Given the description of an element on the screen output the (x, y) to click on. 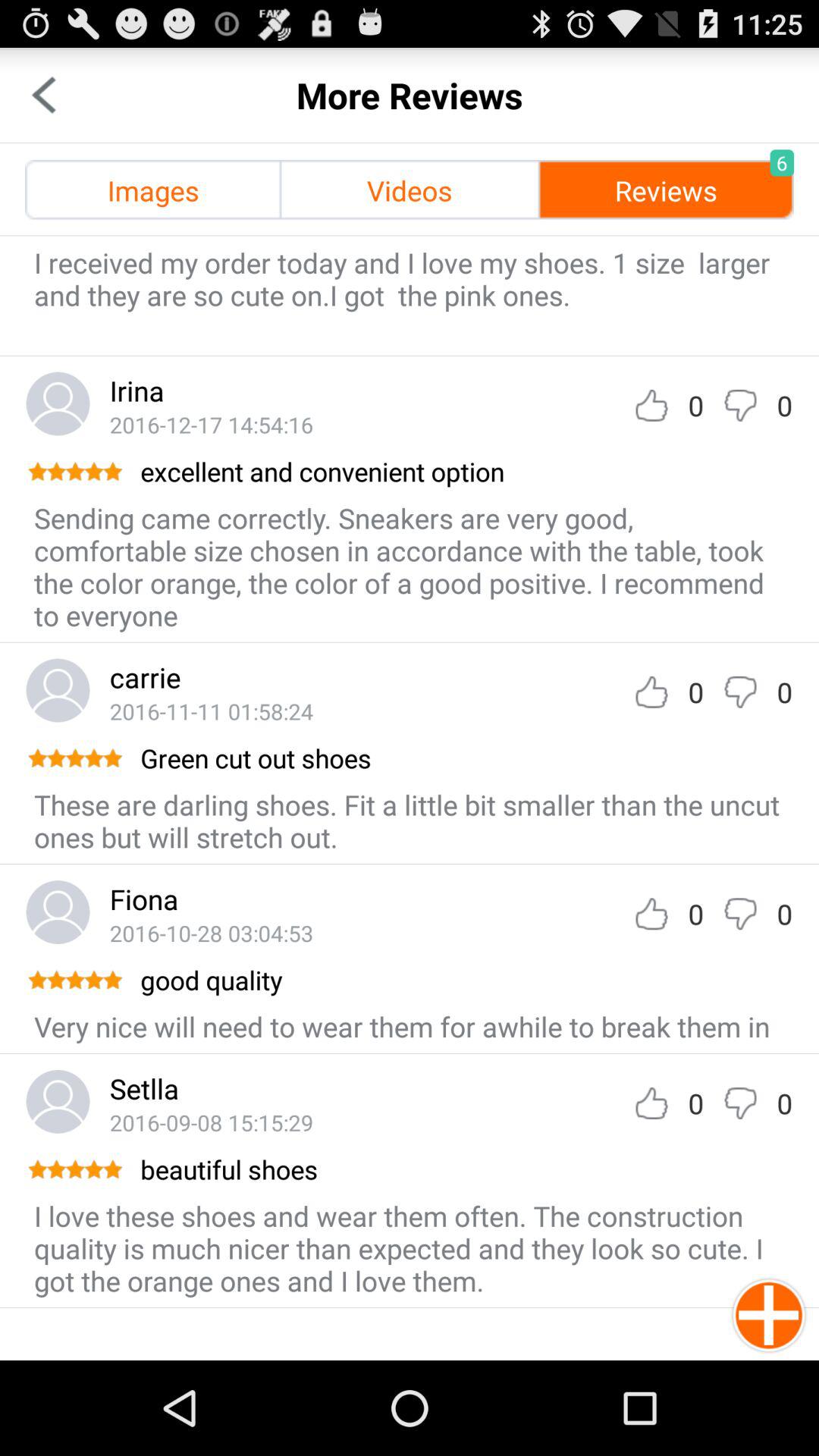
dislike (740, 405)
